Given the description of an element on the screen output the (x, y) to click on. 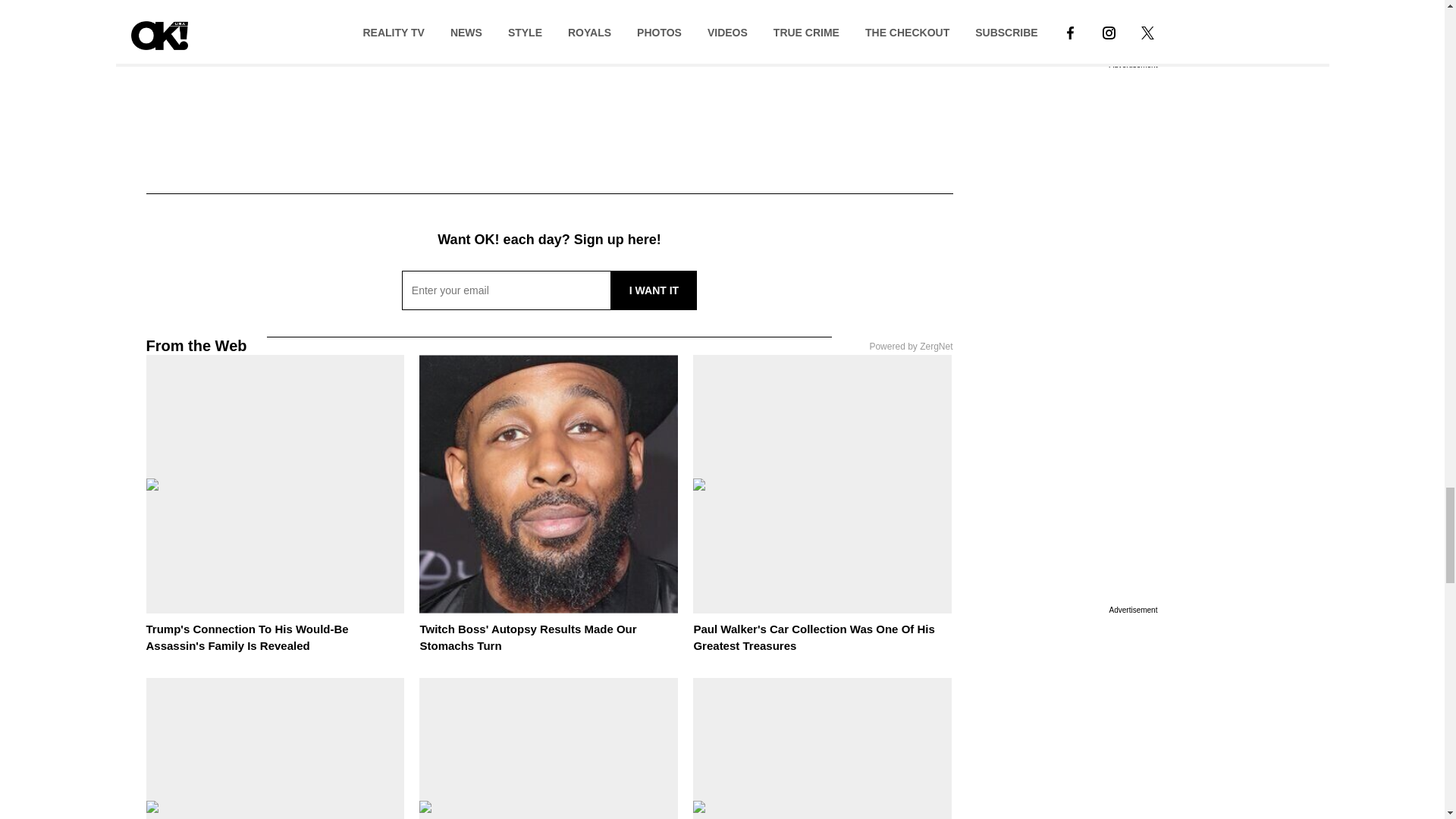
I WANT IT (654, 290)
